Given the description of an element on the screen output the (x, y) to click on. 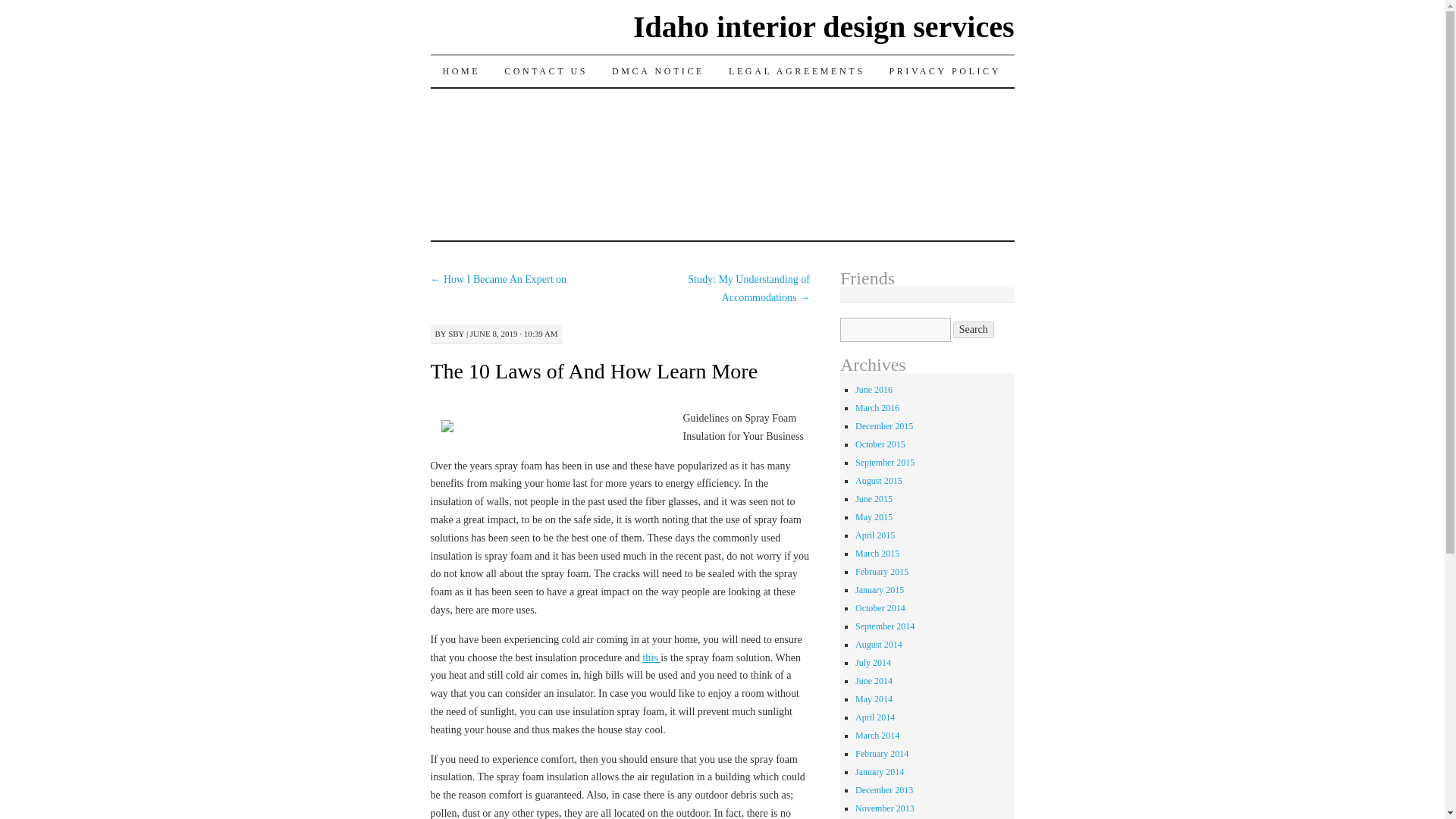
July 2014 (873, 662)
February 2015 (882, 571)
May 2014 (874, 698)
October 2014 (880, 607)
December 2015 (884, 425)
September 2014 (885, 625)
May 2015 (874, 516)
February 2014 (882, 753)
October 2015 (880, 443)
The 10 Laws of And How Learn More (594, 371)
